Given the description of an element on the screen output the (x, y) to click on. 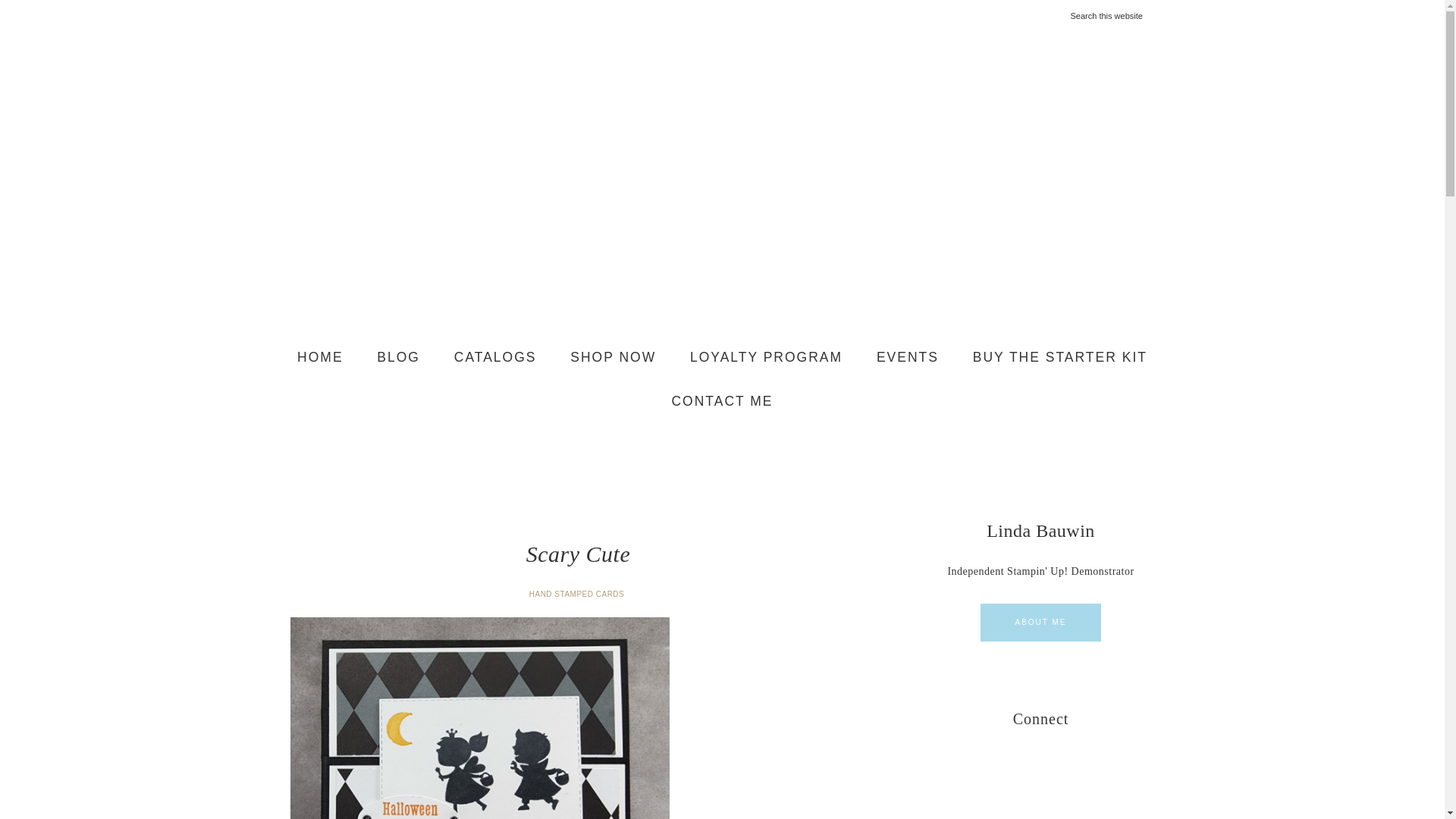
SHOP NOW (612, 357)
BLOG (398, 357)
BUY THE STARTER KIT (1059, 357)
HAND STAMPED CARDS (577, 593)
EVENTS (907, 357)
LOYALTY PROGRAM (766, 357)
CATALOGS (495, 357)
STAMPING WITH LINDA, CARD-IOLOGIST (722, 183)
HOME (320, 357)
CONTACT ME (721, 401)
